Given the description of an element on the screen output the (x, y) to click on. 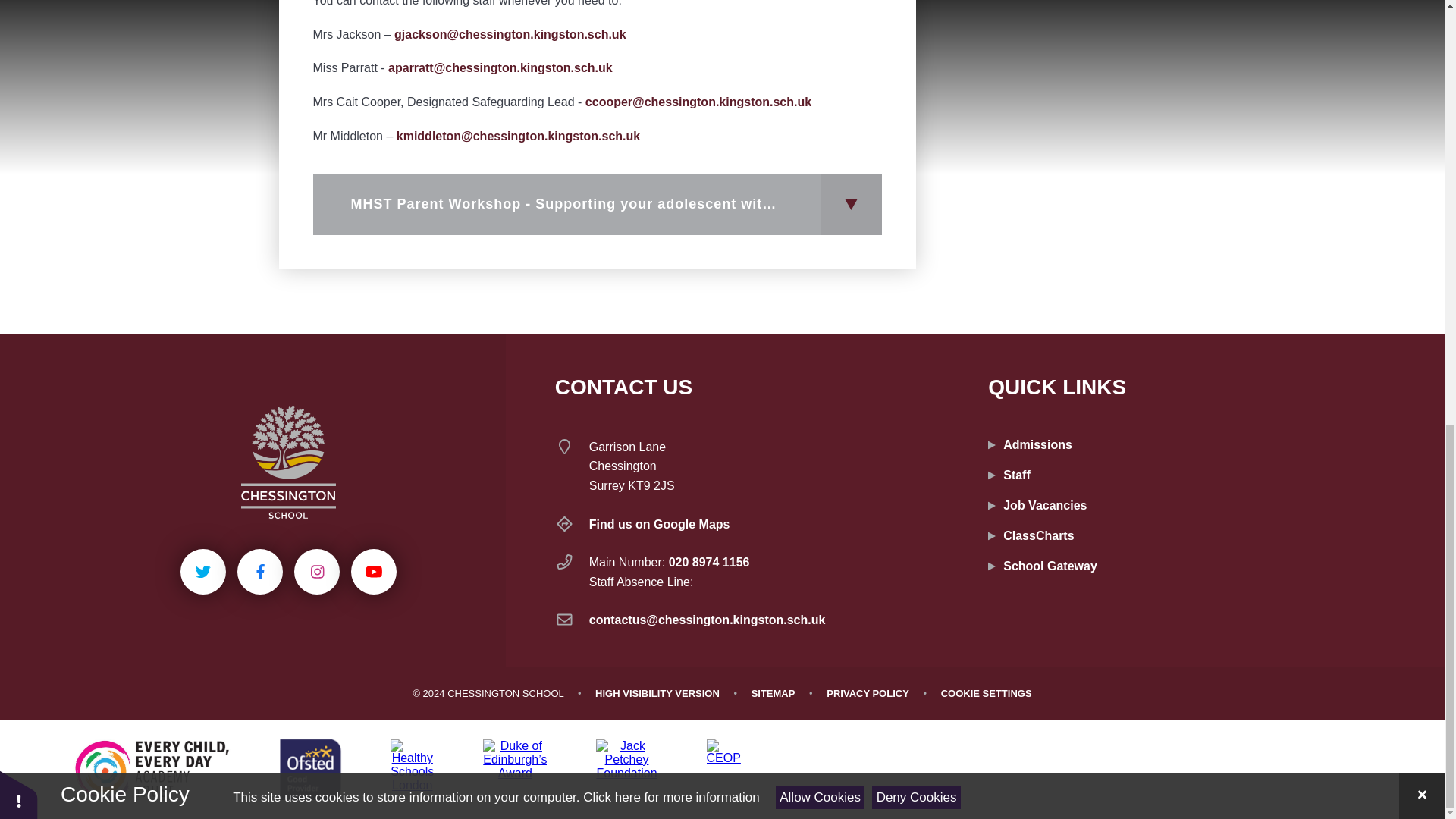
YouTube (373, 571)
Every Child Every Day Academy Trust (151, 769)
Facebook (259, 571)
Jack Petchey Foundation (625, 769)
Cookie Settings (986, 693)
Twitter (202, 571)
Ofsted Good Provider (309, 769)
Instagram (316, 571)
